Given the description of an element on the screen output the (x, y) to click on. 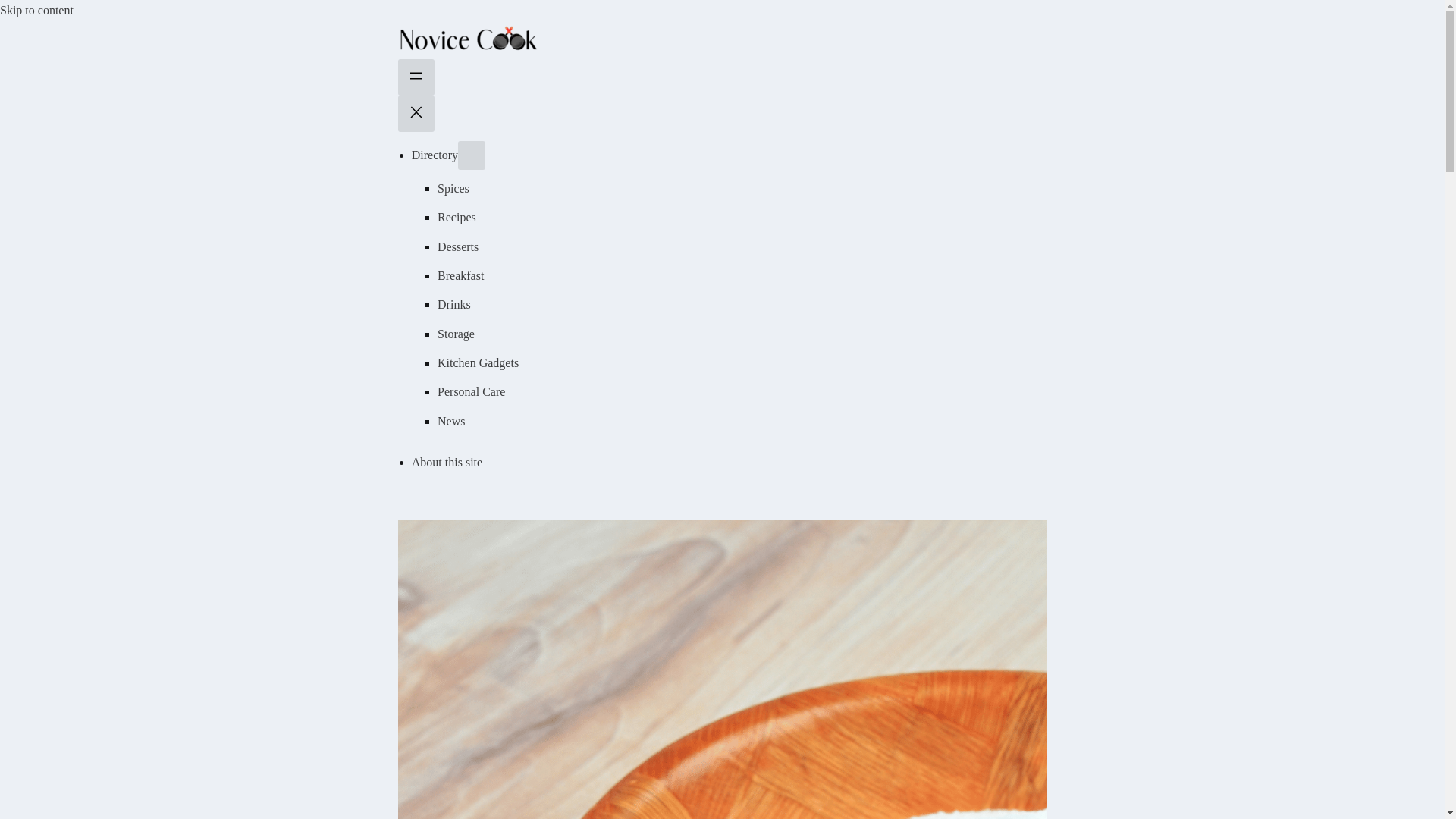
News (451, 420)
Breakfast (460, 275)
Desserts (458, 246)
Recipes (457, 216)
Directory (435, 154)
Kitchen Gadgets (478, 362)
Skip to content (37, 10)
Storage (456, 333)
Drinks (454, 304)
Spices (453, 187)
